Given the description of an element on the screen output the (x, y) to click on. 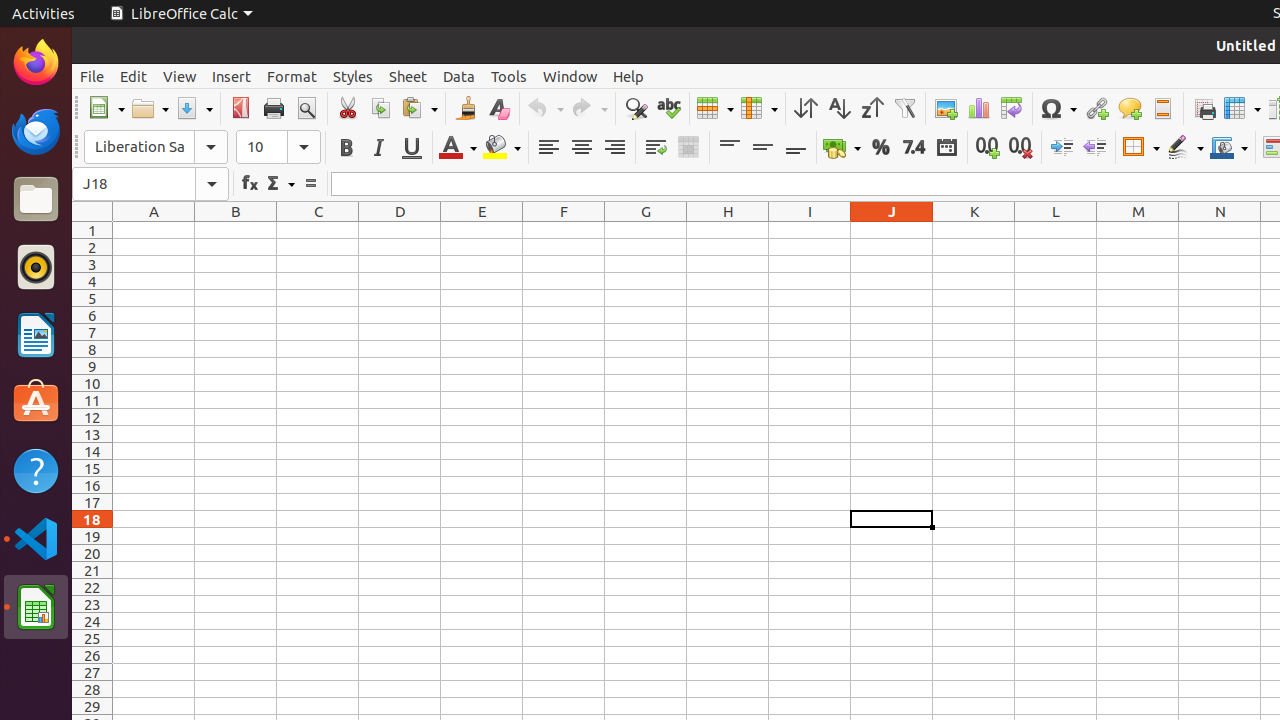
Formula Element type: push-button (310, 183)
B1 Element type: table-cell (236, 230)
Align Bottom Element type: push-button (795, 147)
Sheet Element type: menu (408, 76)
Copy Element type: push-button (380, 108)
